Given the description of an element on the screen output the (x, y) to click on. 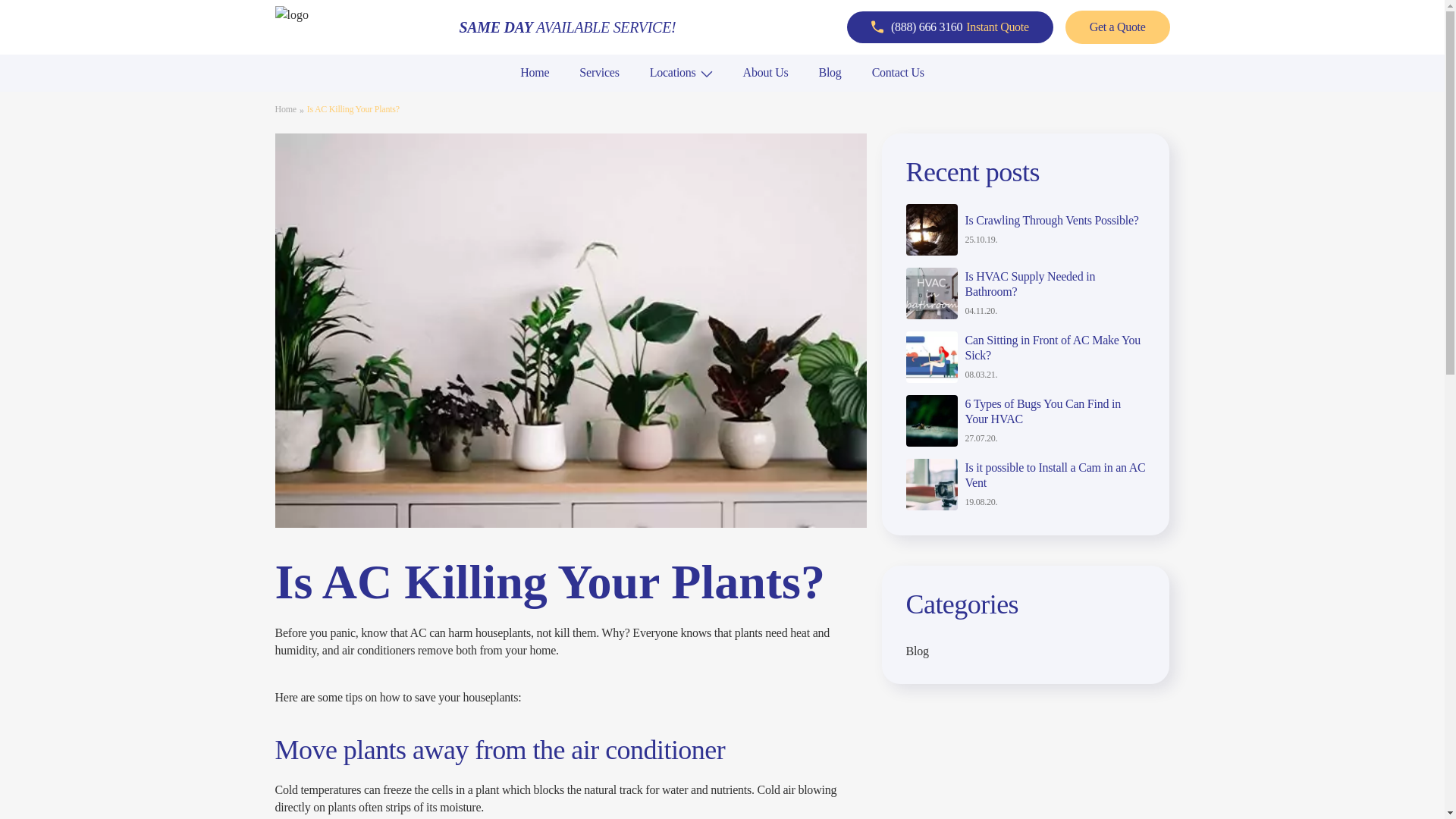
Wilmington (766, 97)
Pompano Beach (330, 97)
Air Duct Cleaning in Massachusetts (828, 97)
Air Duct Cleaning in Illinois (586, 97)
North Miami Beach (339, 97)
Miami (307, 97)
Air Duct Cleaning DC (348, 97)
Locations (672, 72)
Brewster (759, 97)
Gaithersburg MD (556, 97)
